Given the description of an element on the screen output the (x, y) to click on. 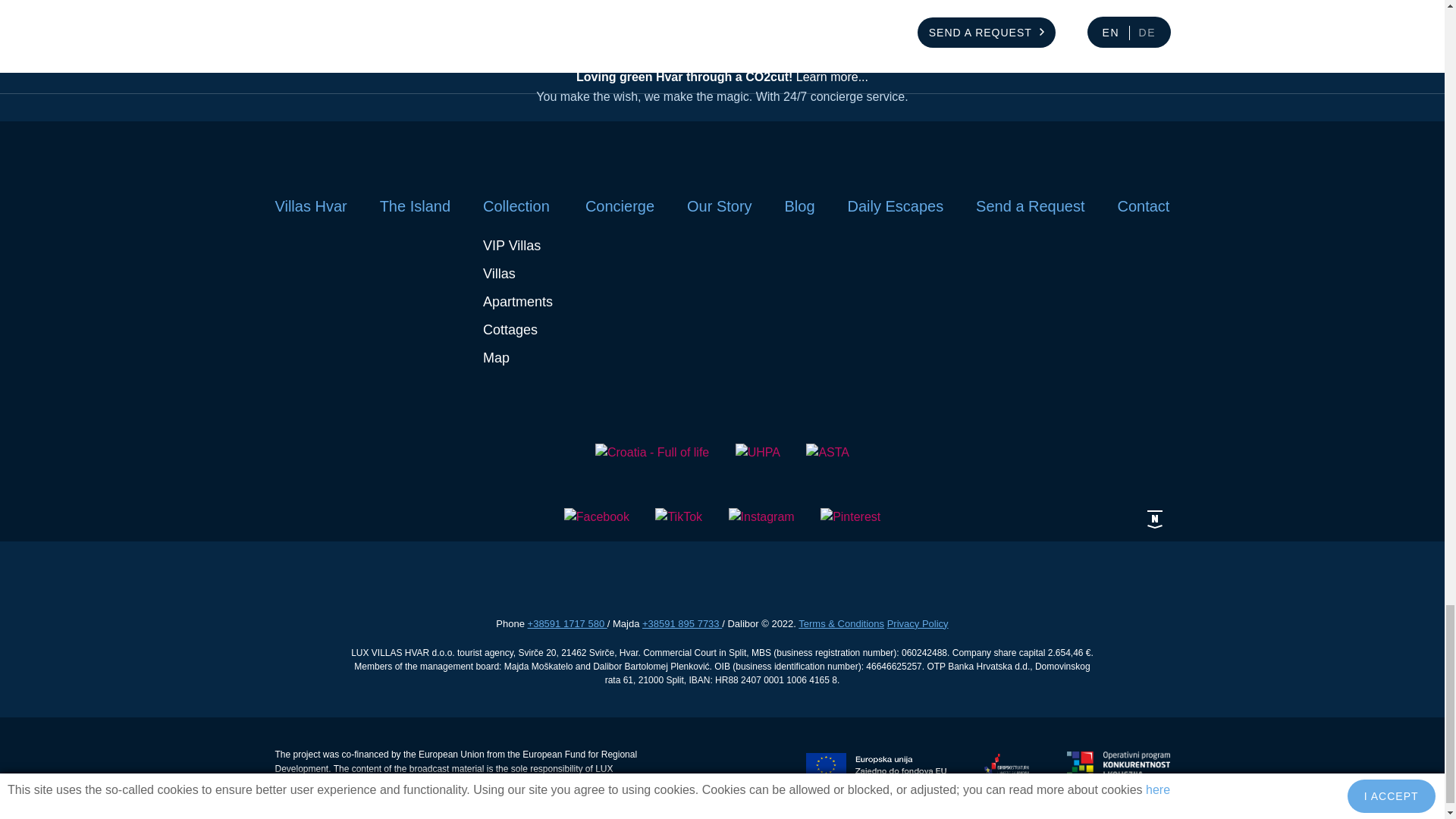
Collection (516, 206)
VIP Villas (511, 245)
The Island (414, 206)
Villas Hvar (310, 206)
Villas (499, 273)
